Given the description of an element on the screen output the (x, y) to click on. 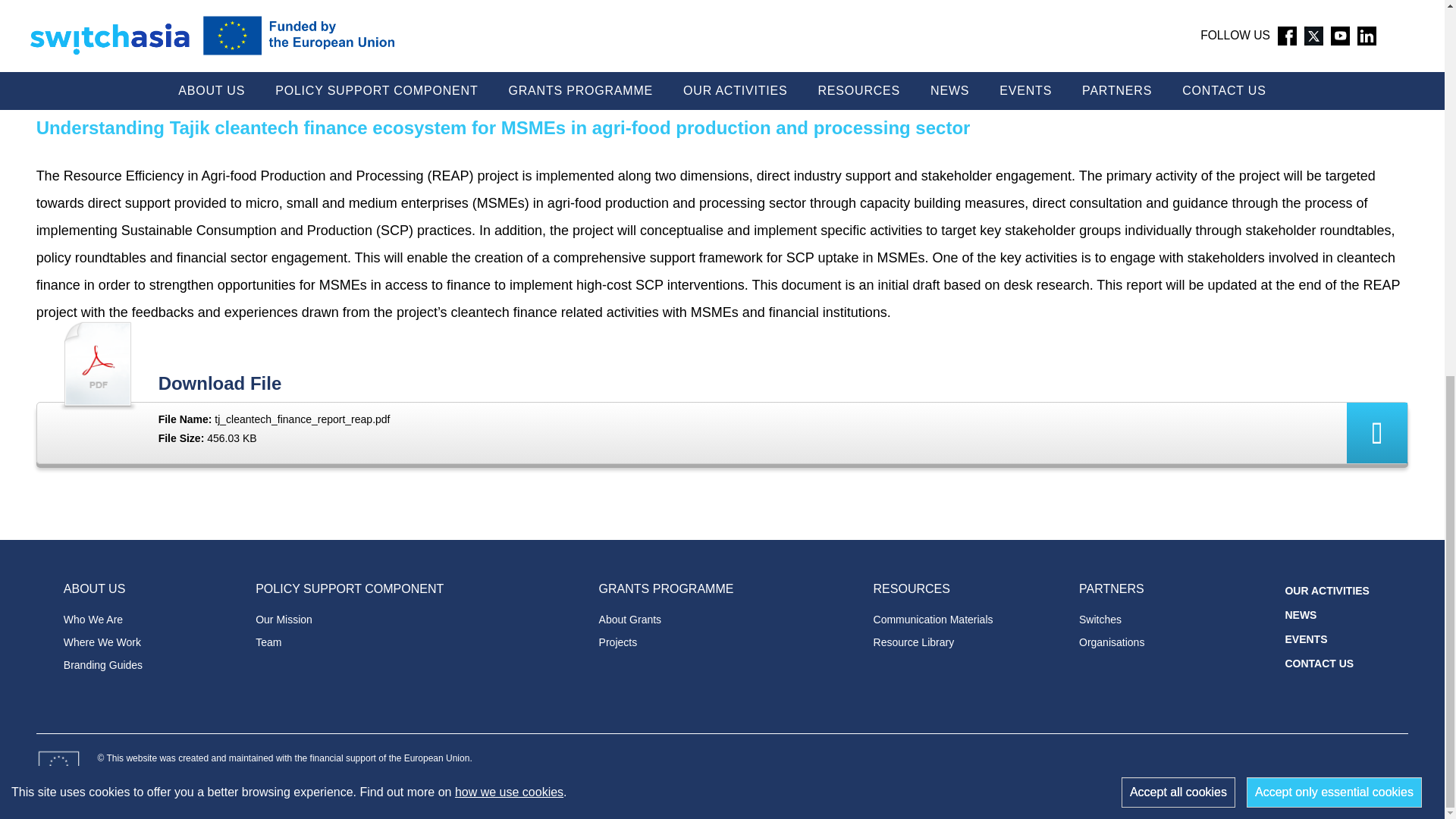
BACK TO TOP (1421, 131)
